Given the description of an element on the screen output the (x, y) to click on. 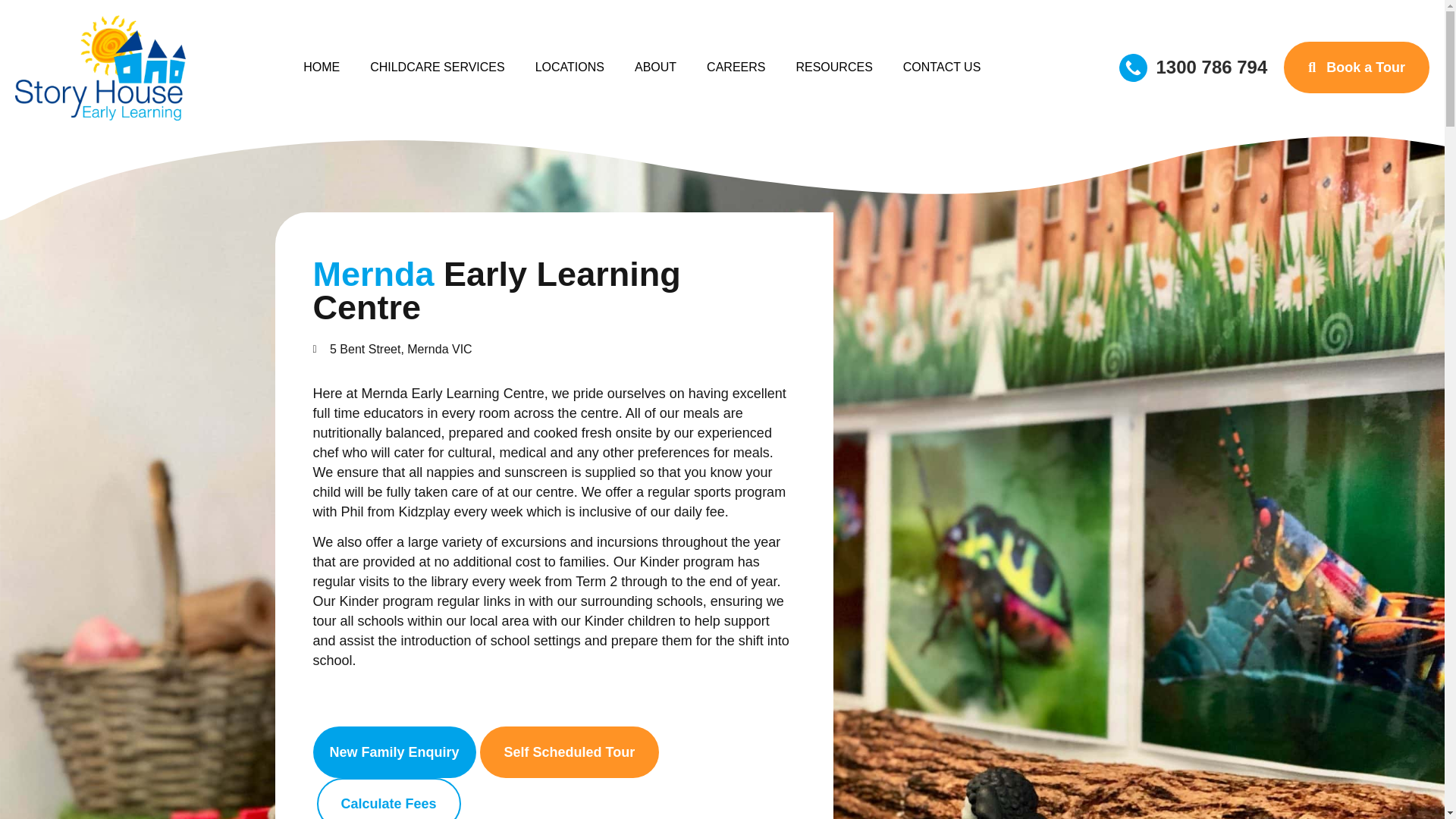
CAREERS (735, 67)
CHILDCARE SERVICES (437, 67)
RESOURCES (833, 67)
CONTACT US (941, 67)
ABOUT (655, 67)
HOME (321, 67)
LOCATIONS (569, 67)
